Given the description of an element on the screen output the (x, y) to click on. 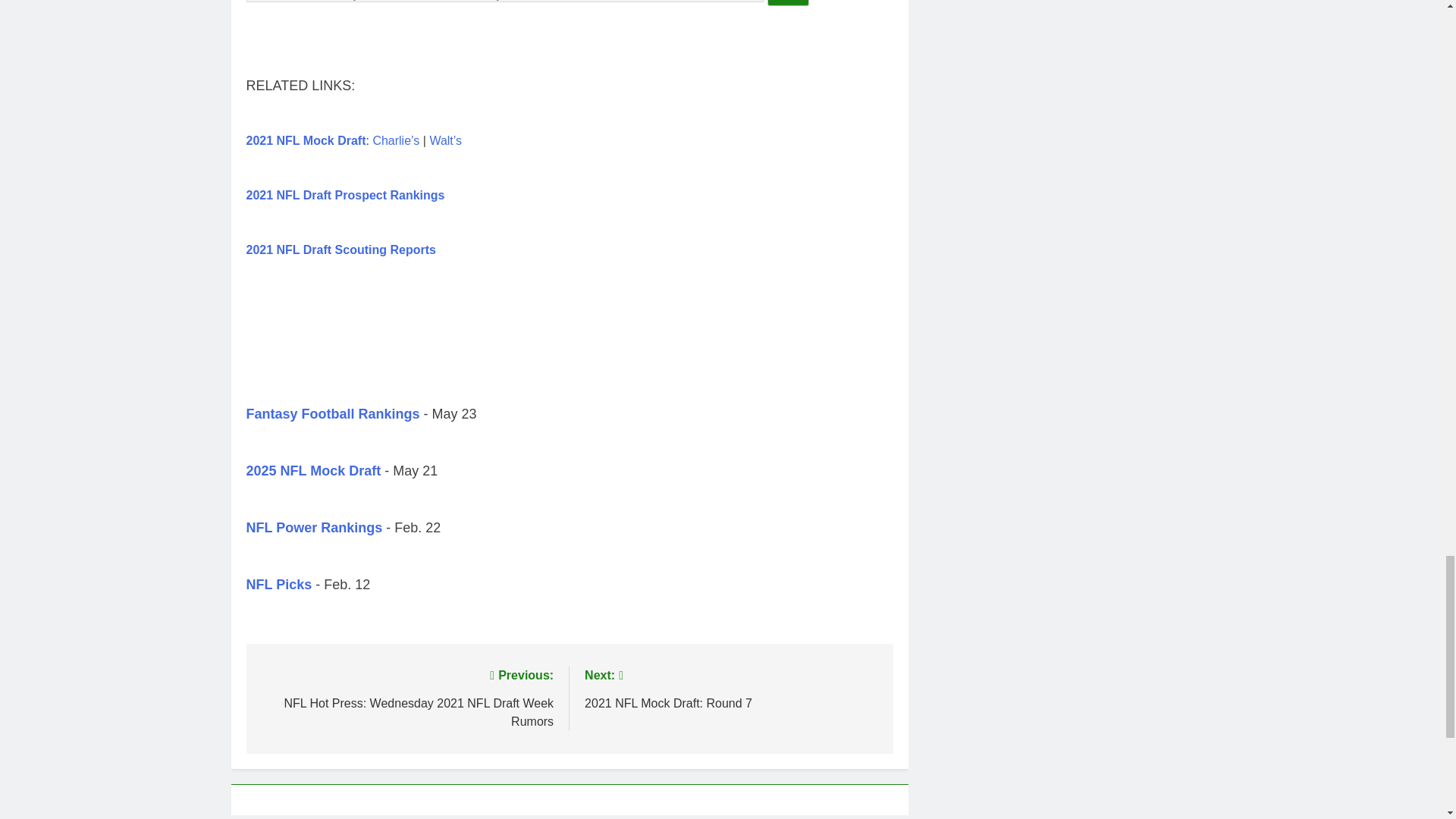
Go (788, 2)
